Given the description of an element on the screen output the (x, y) to click on. 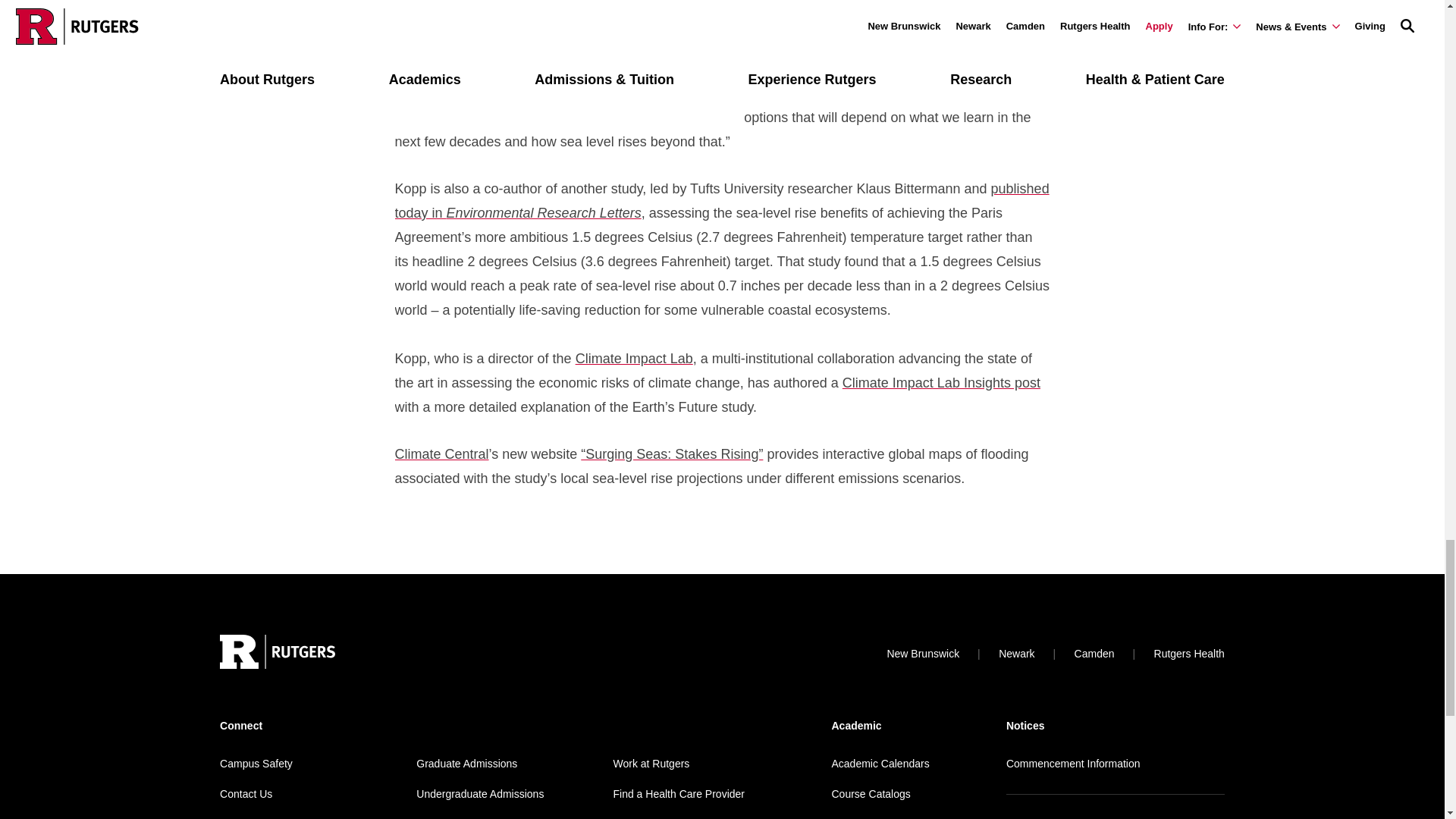
Graduate Admissions (466, 763)
Campus Safety (255, 763)
Course Catalogs (870, 793)
Academic Calendars (879, 763)
Undergraduate Admissions (479, 793)
Work at Rutgers (650, 763)
